Given the description of an element on the screen output the (x, y) to click on. 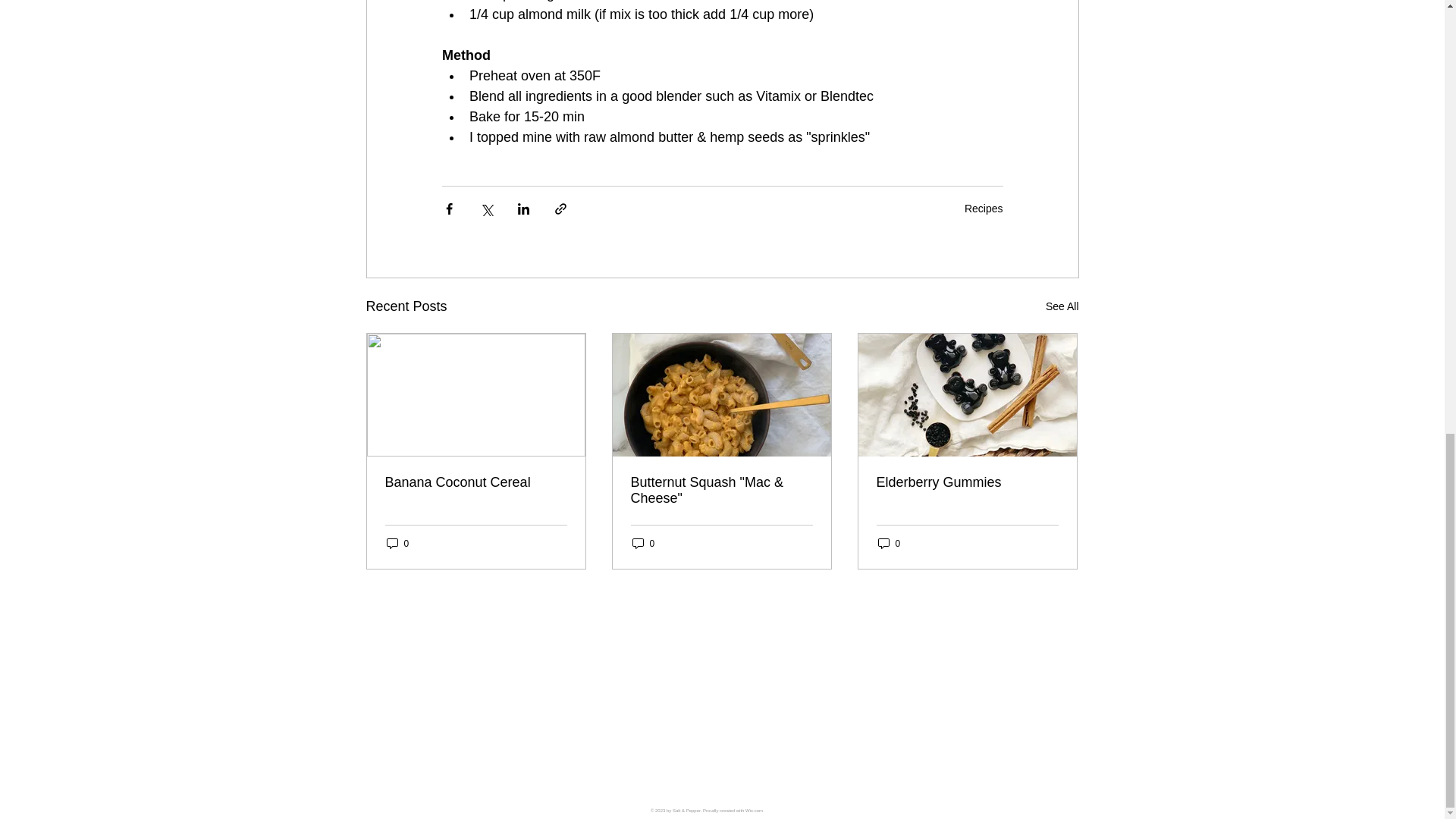
Elderberry Gummies (967, 482)
Wix.com (753, 810)
0 (889, 543)
0 (397, 543)
0 (643, 543)
See All (1061, 306)
Recipes (983, 208)
Banana Coconut Cereal (476, 482)
